Given the description of an element on the screen output the (x, y) to click on. 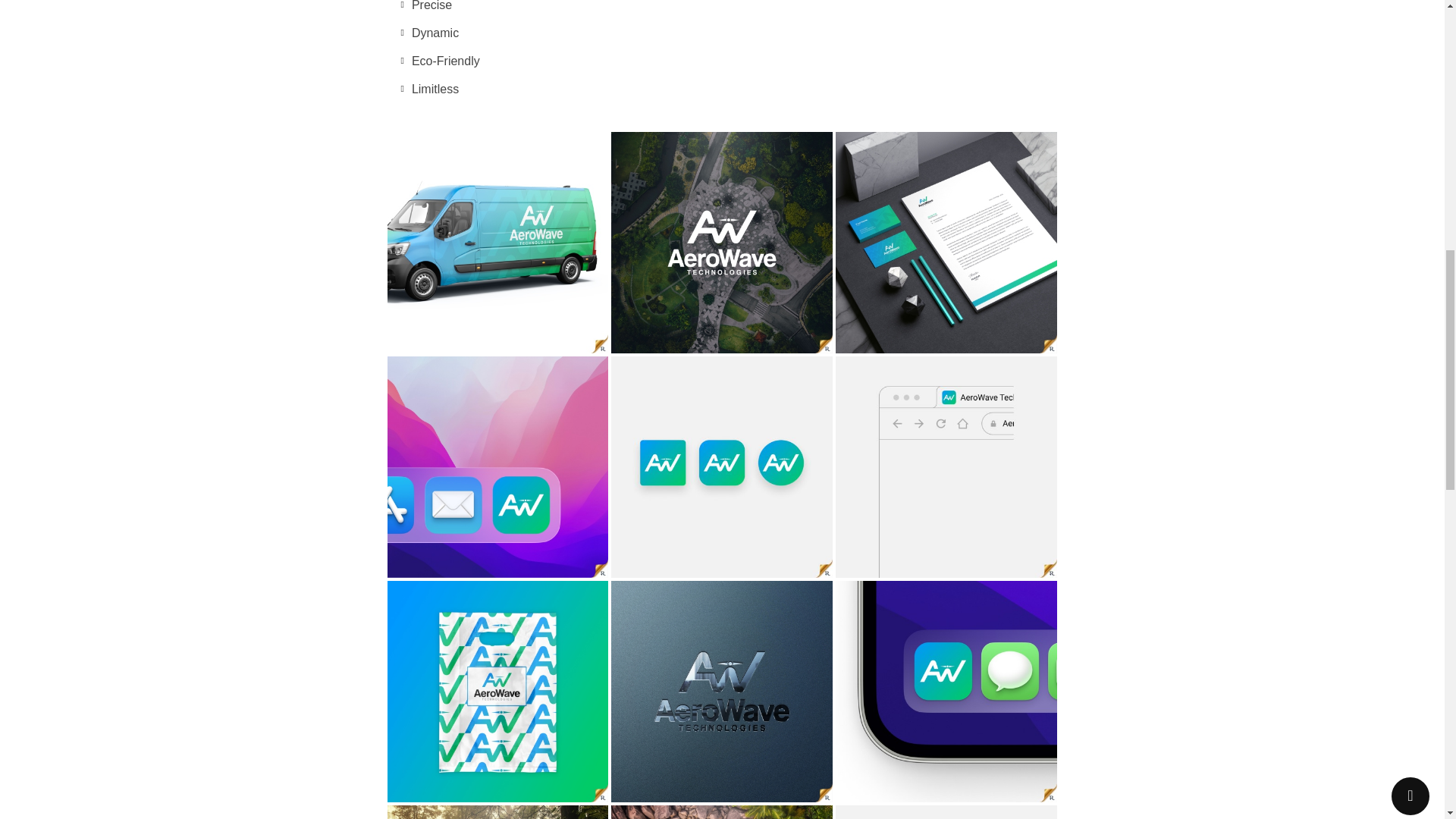
AeroWave-Technologies-28 (721, 241)
AeroWave-Technologies-30 (946, 467)
AeroWave-Technologies-34 (497, 691)
AeroWave-Technologies-27 (497, 241)
AeroWave-Technologies-29 (721, 467)
AeroWave-Technologies-26 (946, 241)
AeroWave-Technologies-31 (497, 467)
